Given the description of an element on the screen output the (x, y) to click on. 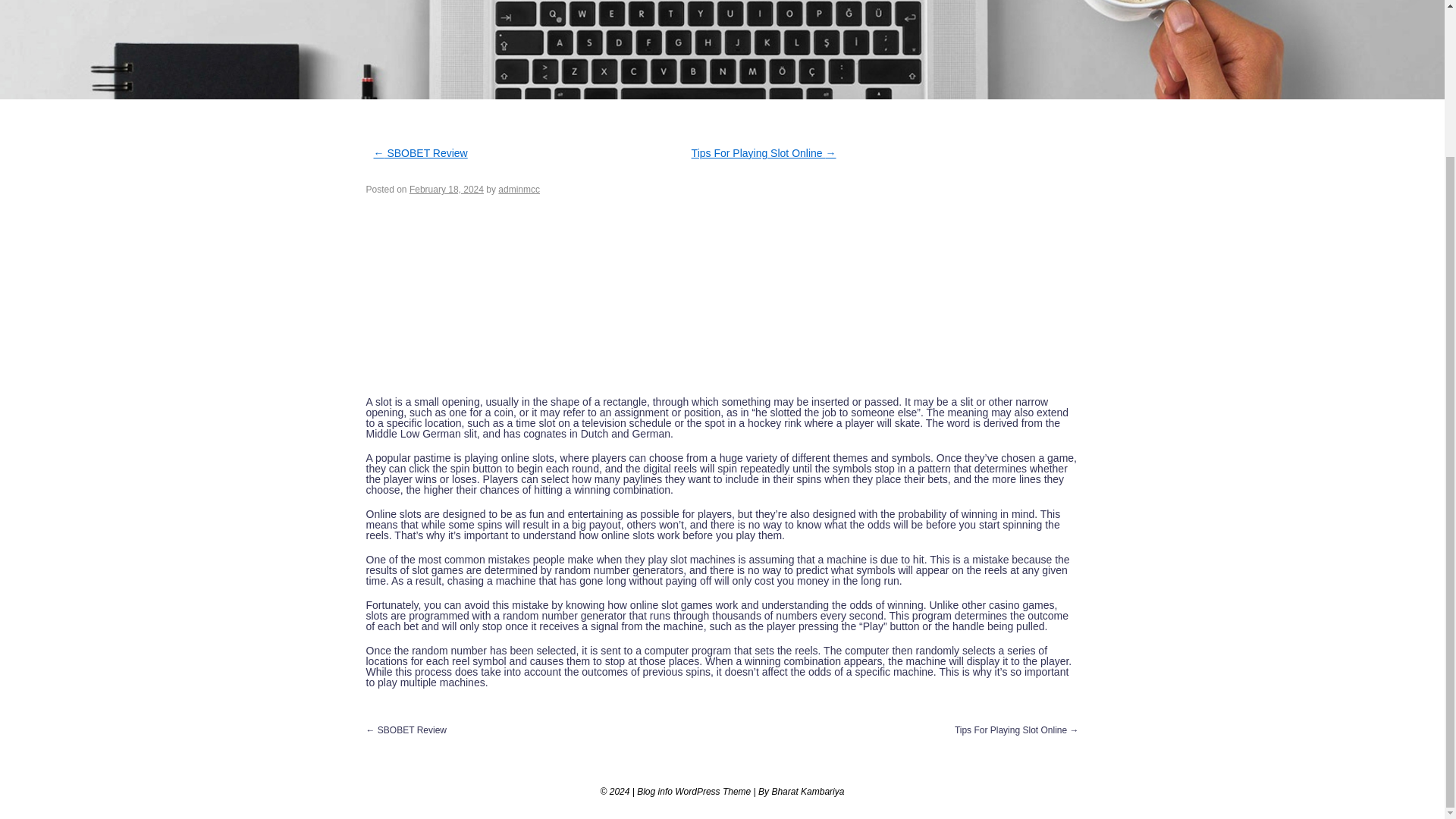
adminmcc (518, 189)
7:47 pm (446, 189)
View all posts by adminmcc (518, 189)
February 18, 2024 (446, 189)
